Given the description of an element on the screen output the (x, y) to click on. 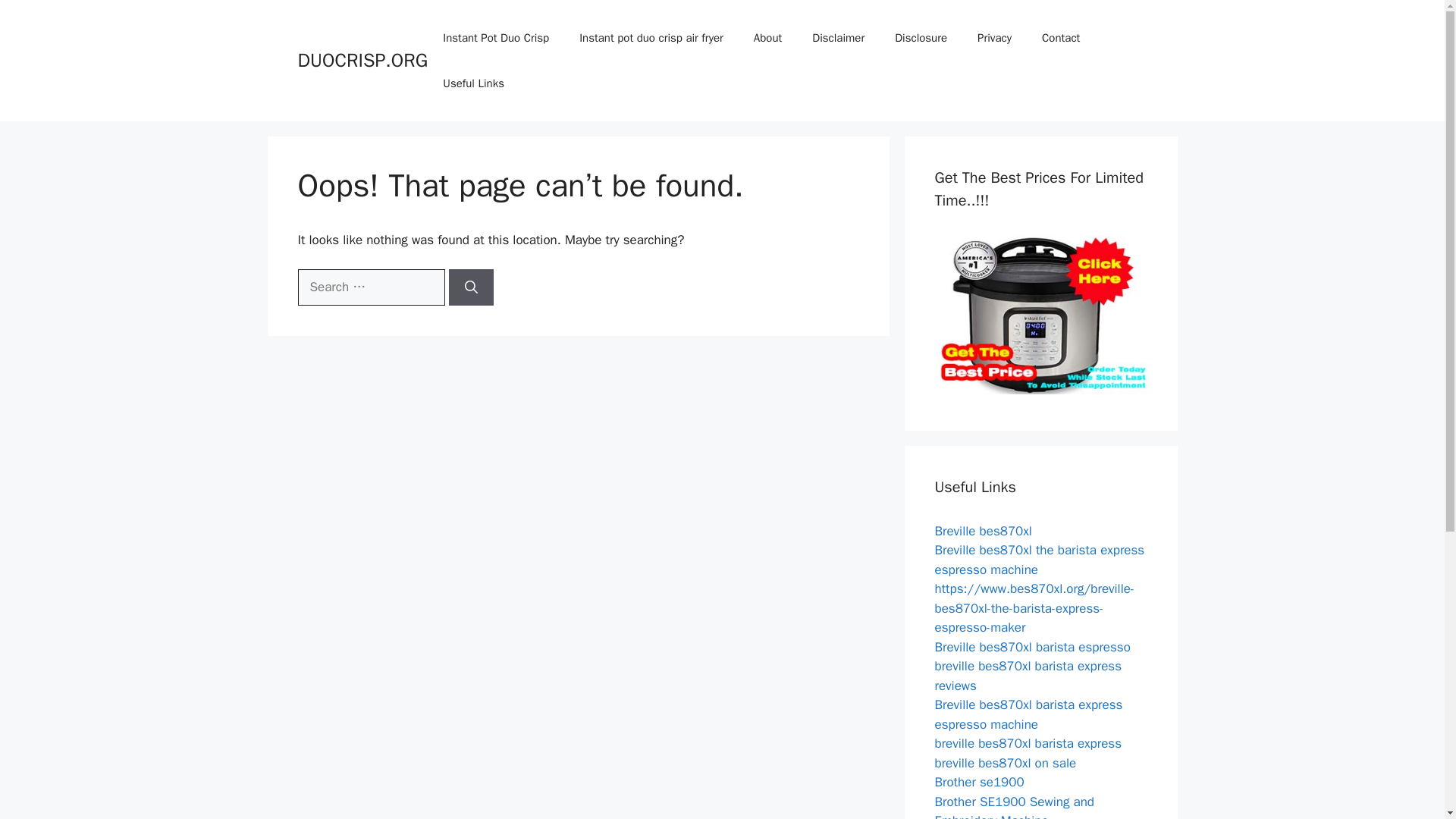
Brother SE1900 Sewing and Embroidery Machine (1014, 806)
Instant pot duo crisp air fryer (651, 37)
DUOCRISP.ORG (362, 60)
Disclaimer (837, 37)
Brother se1900 (978, 781)
Breville bes870xl the barista express espresso machine (1039, 560)
Privacy (994, 37)
Instant Pot Duo Crisp (496, 37)
Search for: (370, 287)
breville bes870xl on sale (1004, 763)
breville bes870xl barista express (1027, 743)
About (767, 37)
Breville bes870xl (982, 530)
Useful Links (473, 83)
Breville bes870xl barista espresso (1031, 646)
